Given the description of an element on the screen output the (x, y) to click on. 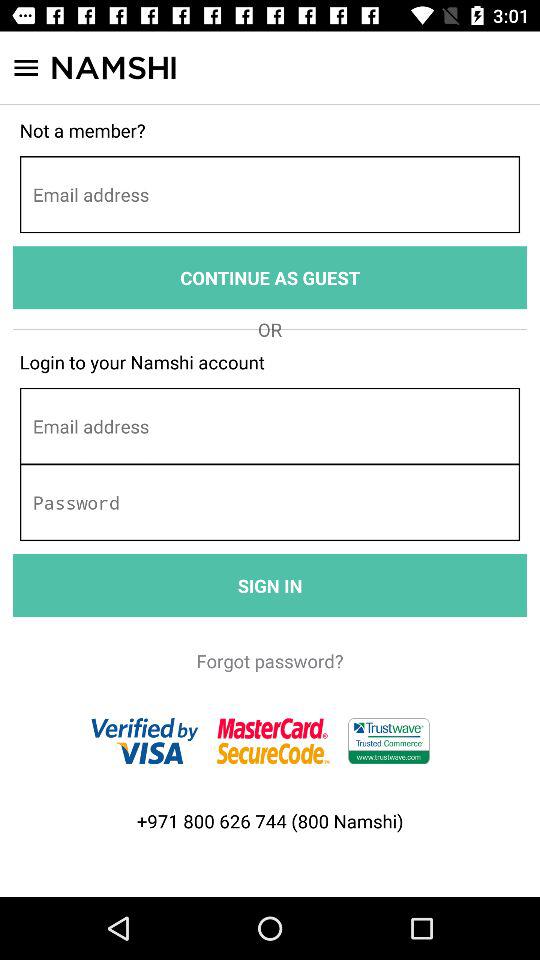
tap the icon below the sign in icon (269, 660)
